Given the description of an element on the screen output the (x, y) to click on. 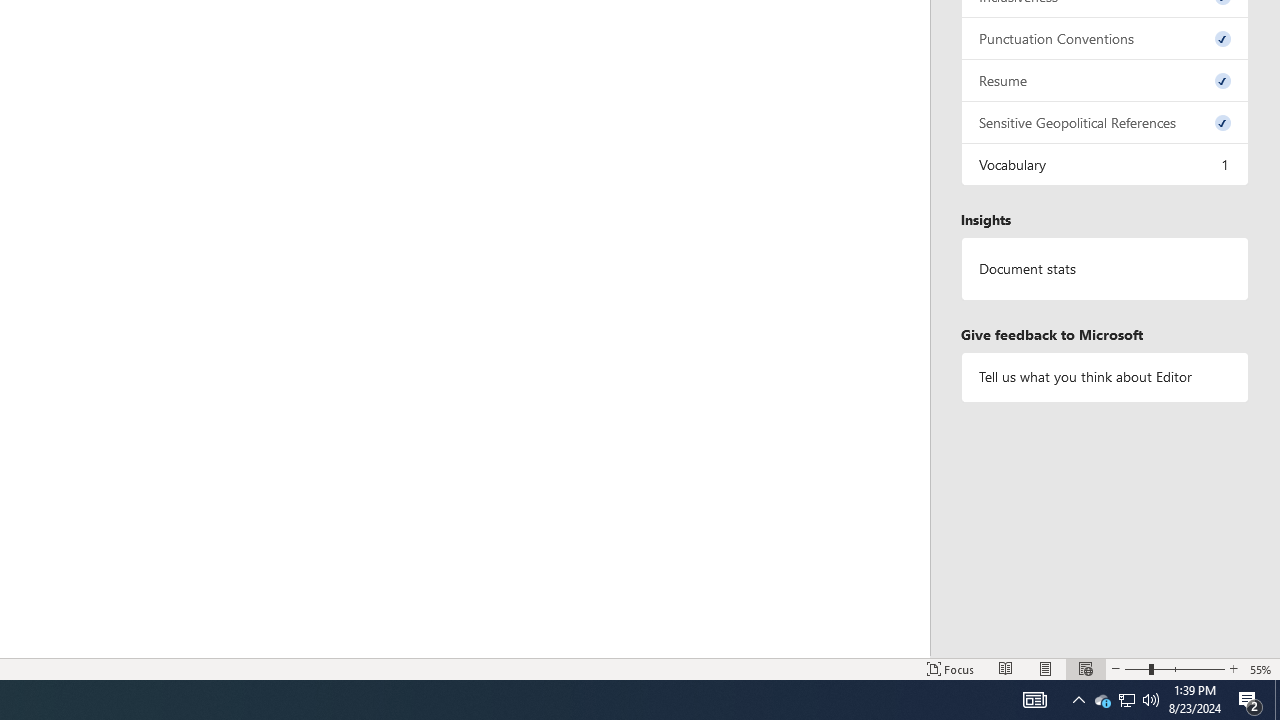
Zoom 55% (1261, 668)
Document statistics (1105, 269)
Tell us what you think about Editor (1105, 376)
Vocabulary, 1 issue. Press space or enter to review items. (1105, 164)
Resume, 0 issues. Press space or enter to review items. (1105, 79)
